Given the description of an element on the screen output the (x, y) to click on. 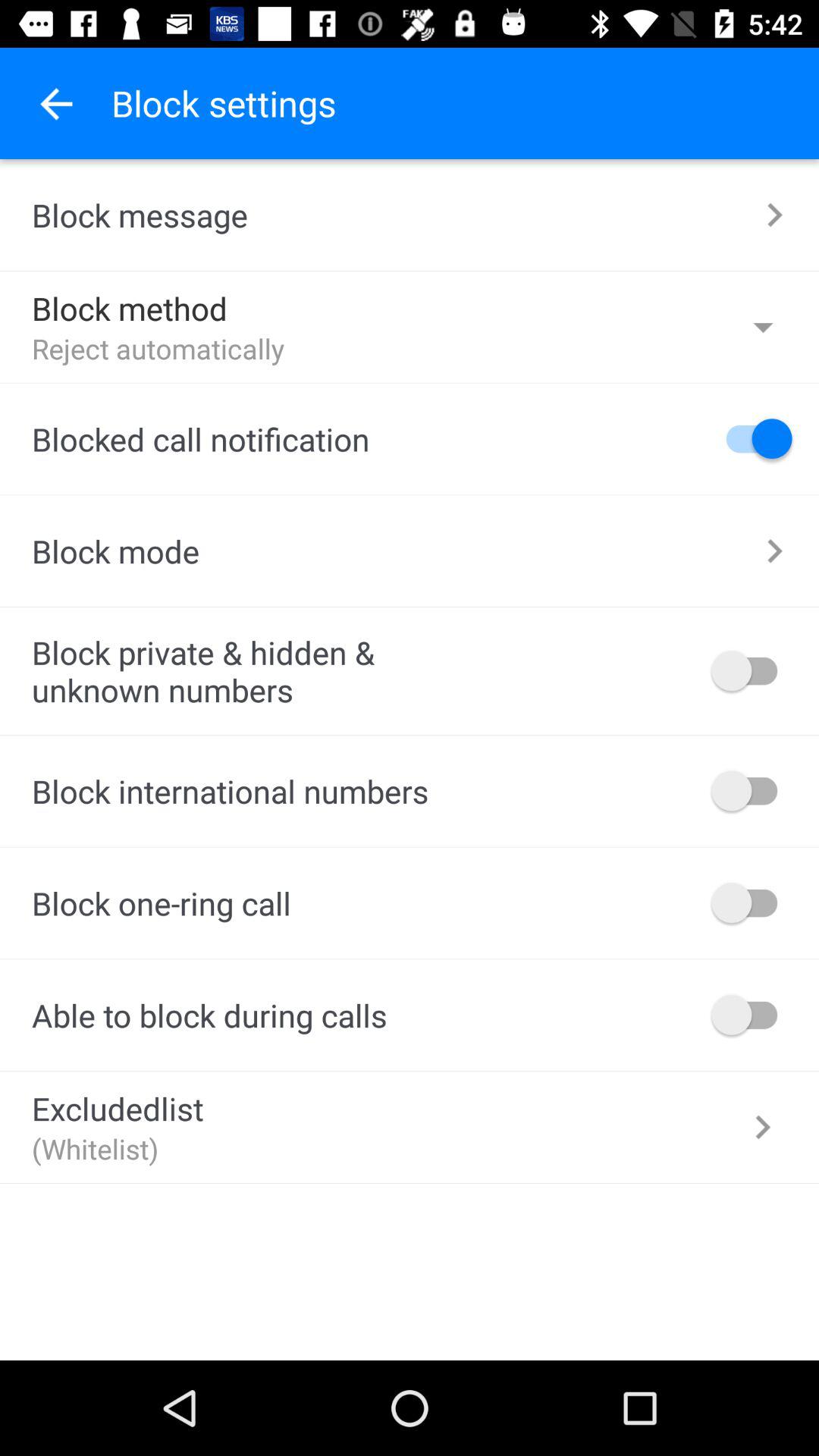
toggle to block international numbers (751, 790)
